Given the description of an element on the screen output the (x, y) to click on. 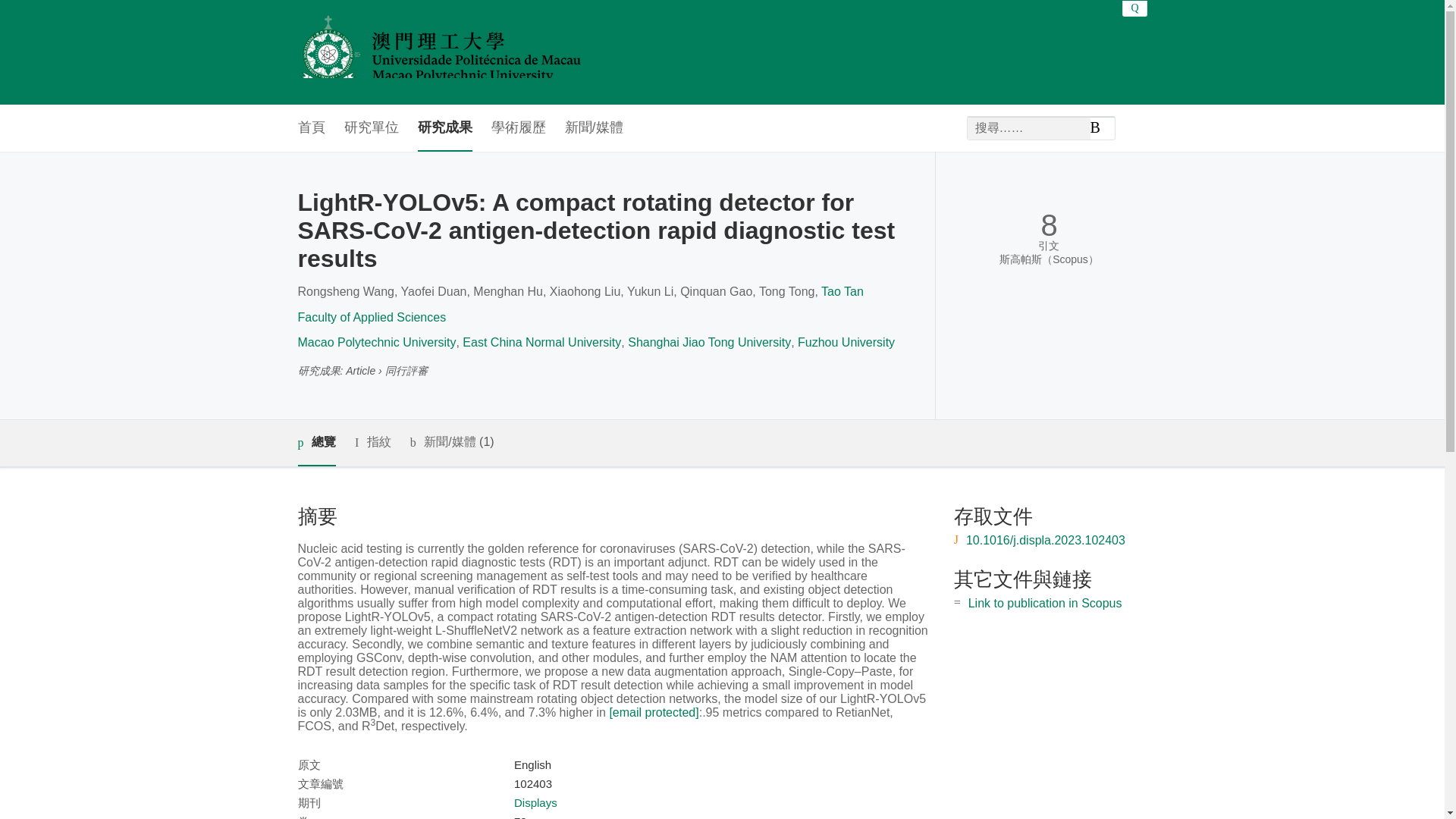
Faculty of Applied Sciences (371, 317)
Fuzhou University (846, 341)
East China Normal University (542, 341)
Tao Tan (842, 291)
Link to publication in Scopus (1045, 603)
Shanghai Jiao Tong University (708, 341)
Macao Polytechnic University (376, 341)
Displays (535, 802)
